Given the description of an element on the screen output the (x, y) to click on. 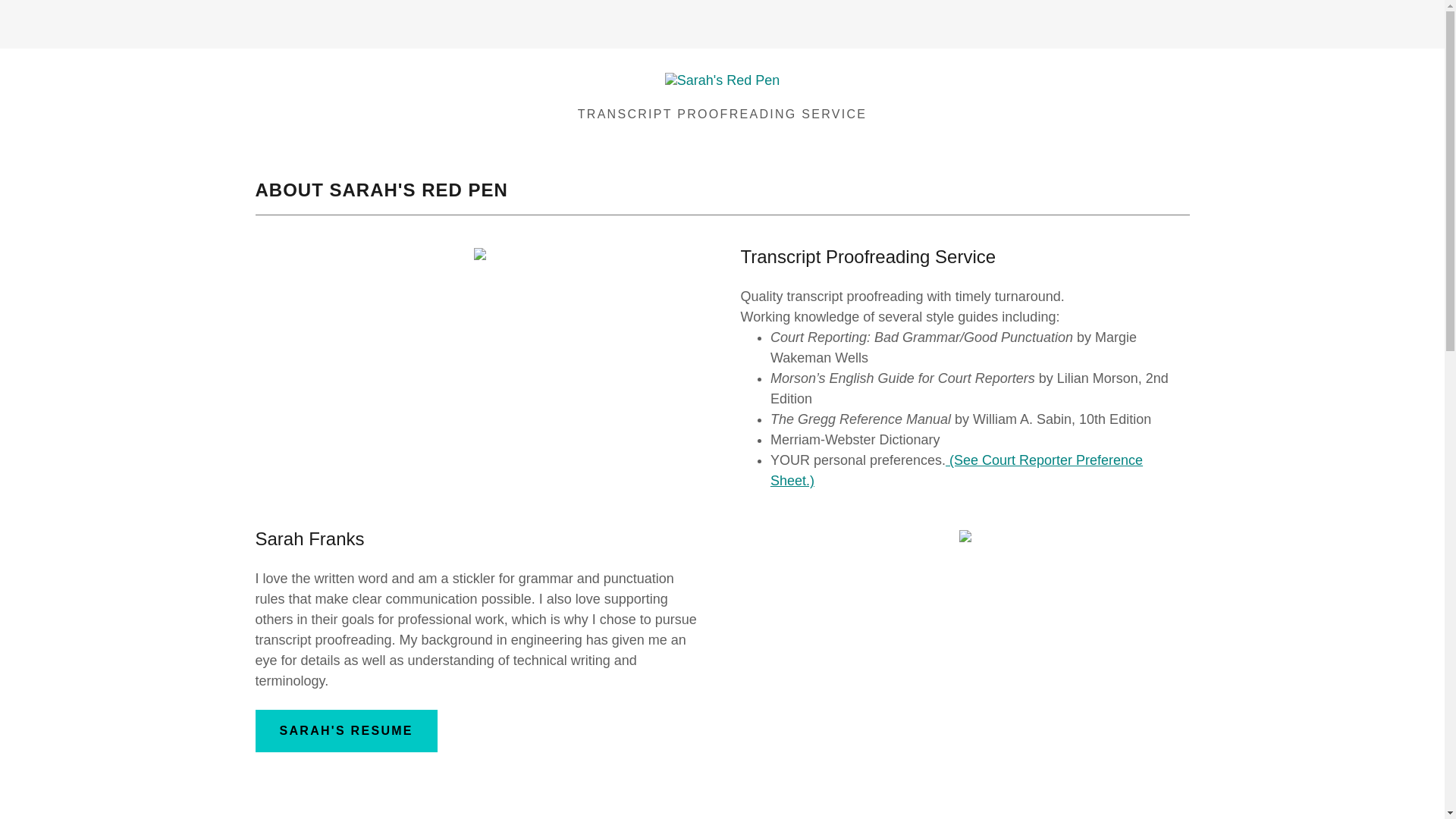
Sarah's Red Pen (722, 85)
SARAH'S RESUME (345, 731)
